Given the description of an element on the screen output the (x, y) to click on. 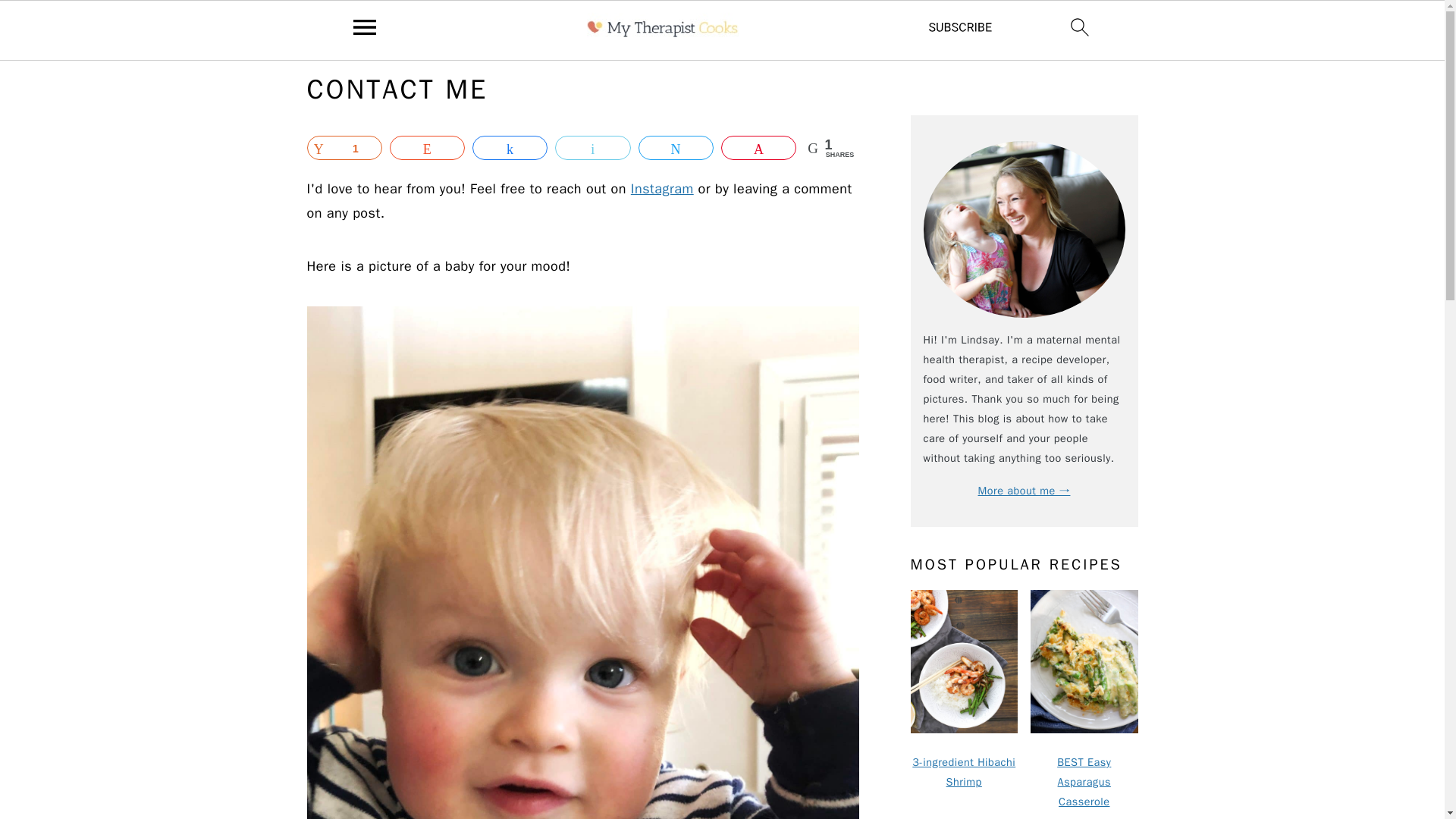
menu icon (365, 26)
search icon (1080, 26)
